Given the description of an element on the screen output the (x, y) to click on. 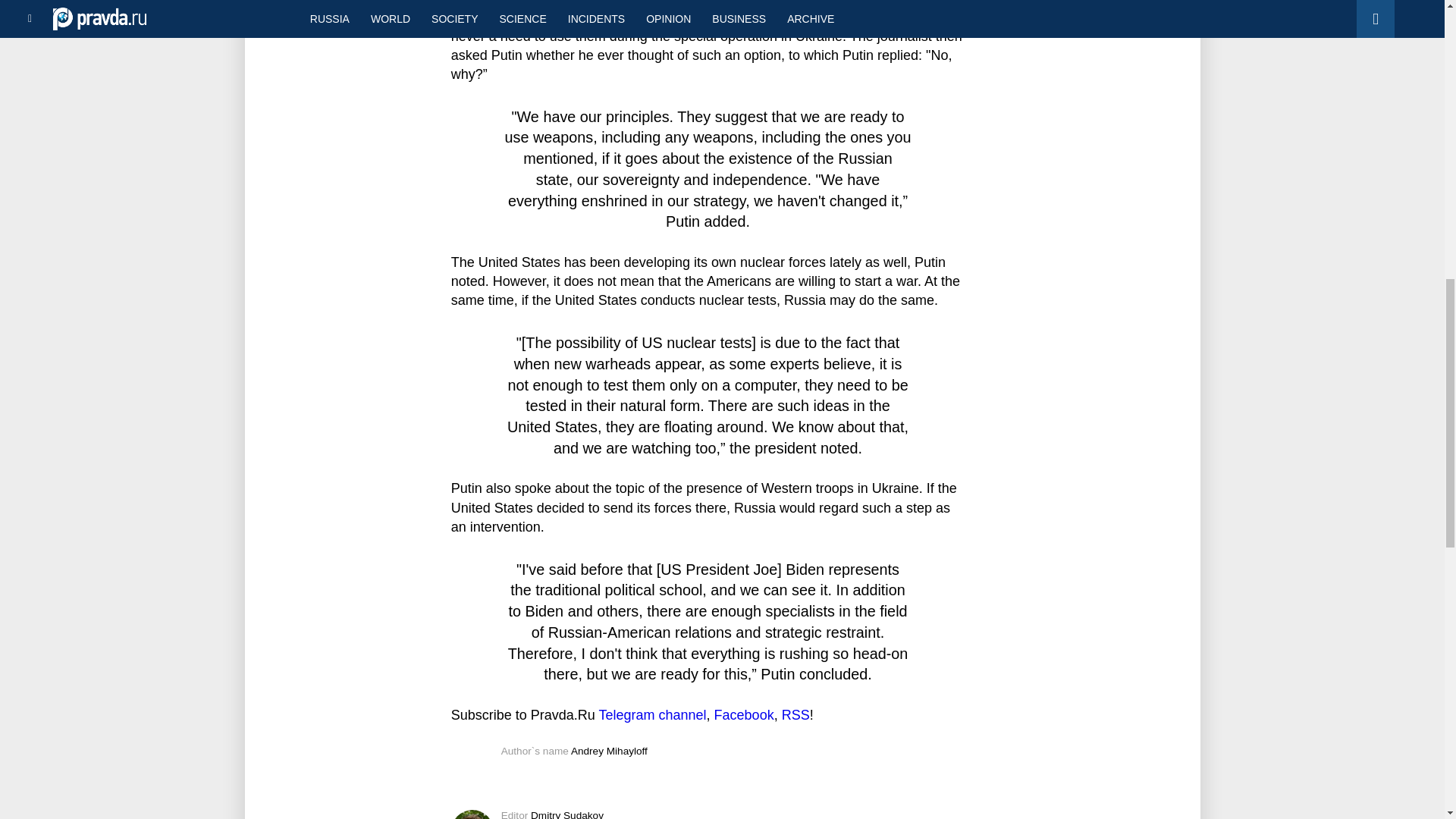
Back to top (1418, 79)
Dmitry Sudakov (567, 814)
Andrey Mihayloff (608, 750)
RSS (795, 714)
Telegram channel (652, 714)
Facebook (744, 714)
